Given the description of an element on the screen output the (x, y) to click on. 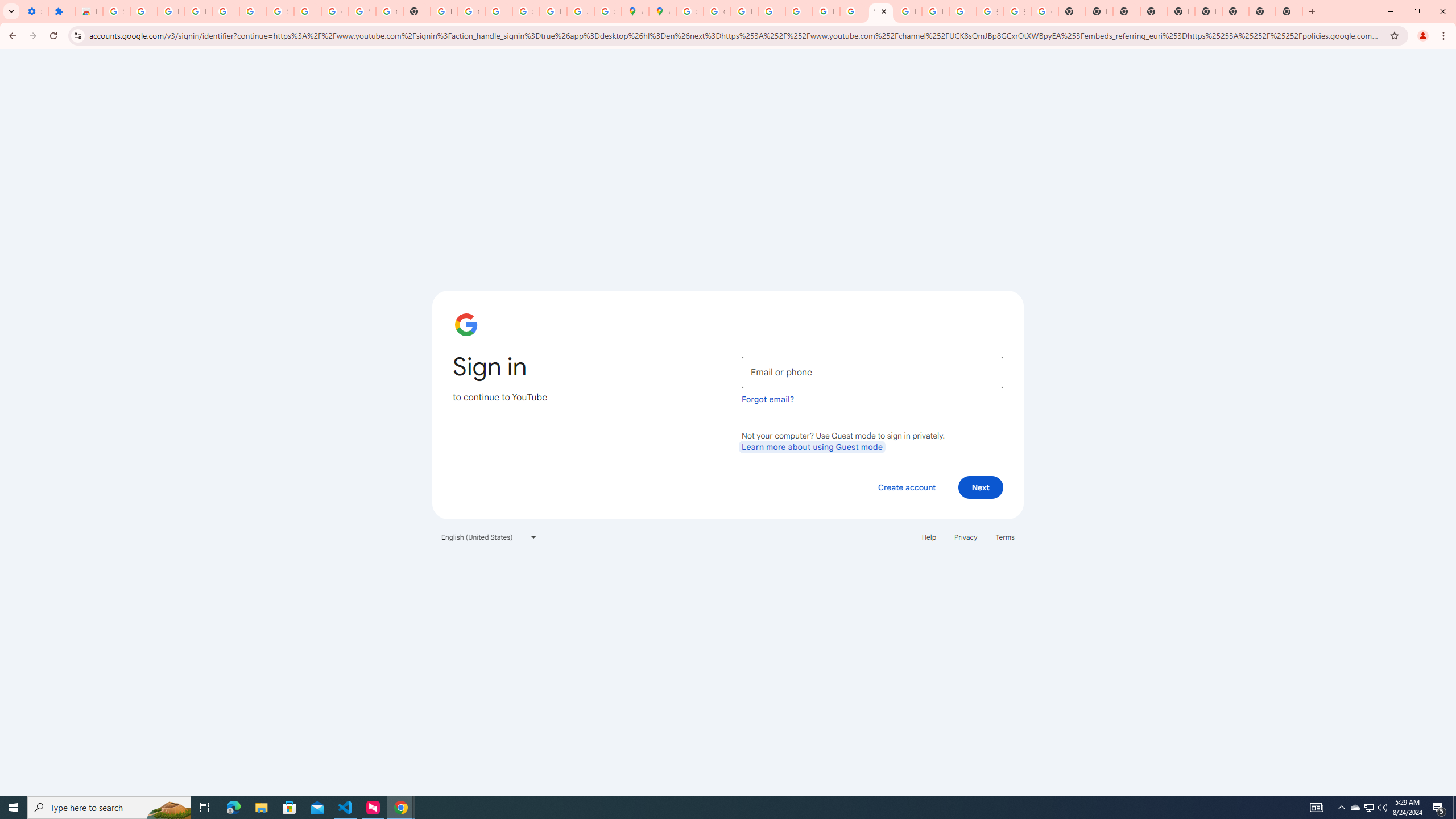
Email or phone (872, 372)
Sign in - Google Accounts (280, 11)
YouTube (880, 11)
Settings - On startup (34, 11)
New Tab (1153, 11)
